Given the description of an element on the screen output the (x, y) to click on. 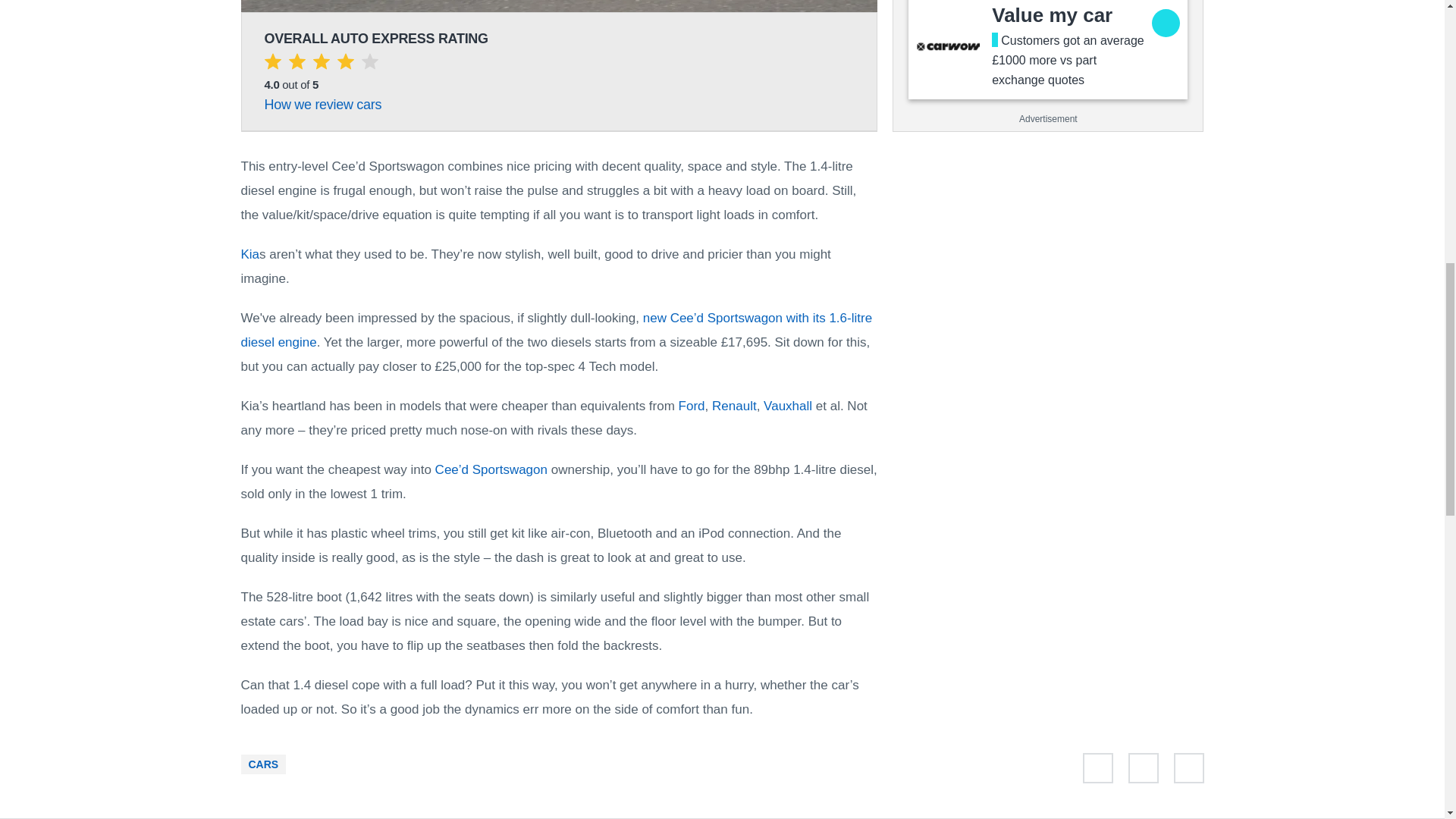
Share this on Facebook (1143, 771)
How we review cars (322, 104)
4 Stars (320, 64)
Renault (734, 405)
Email (1188, 771)
Kia (250, 254)
Ford (691, 405)
Share this on Twitter (1098, 771)
Vauxhall (787, 405)
10 (559, 6)
